Given the description of an element on the screen output the (x, y) to click on. 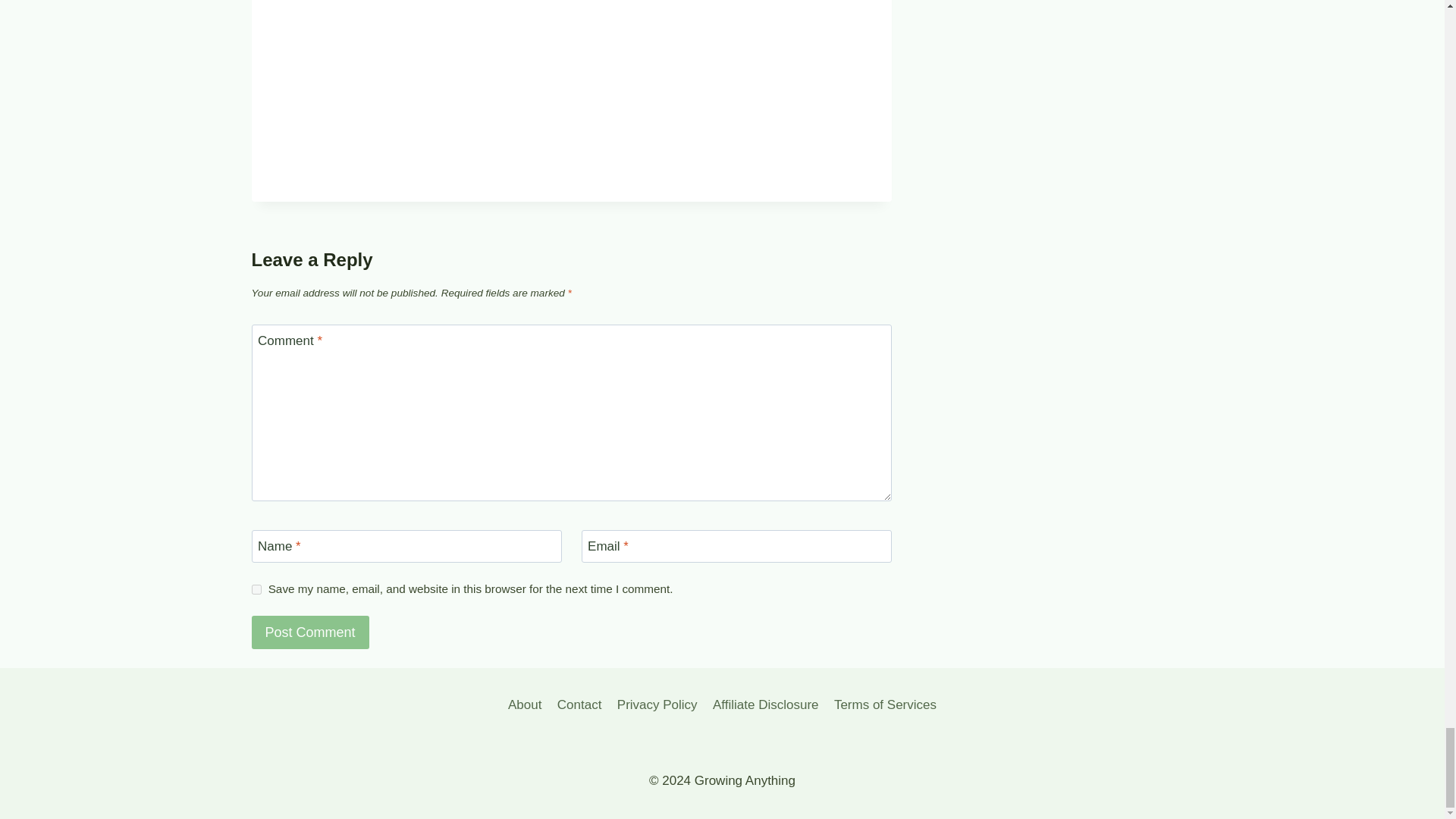
Post Comment (310, 631)
yes (256, 589)
